Given the description of an element on the screen output the (x, y) to click on. 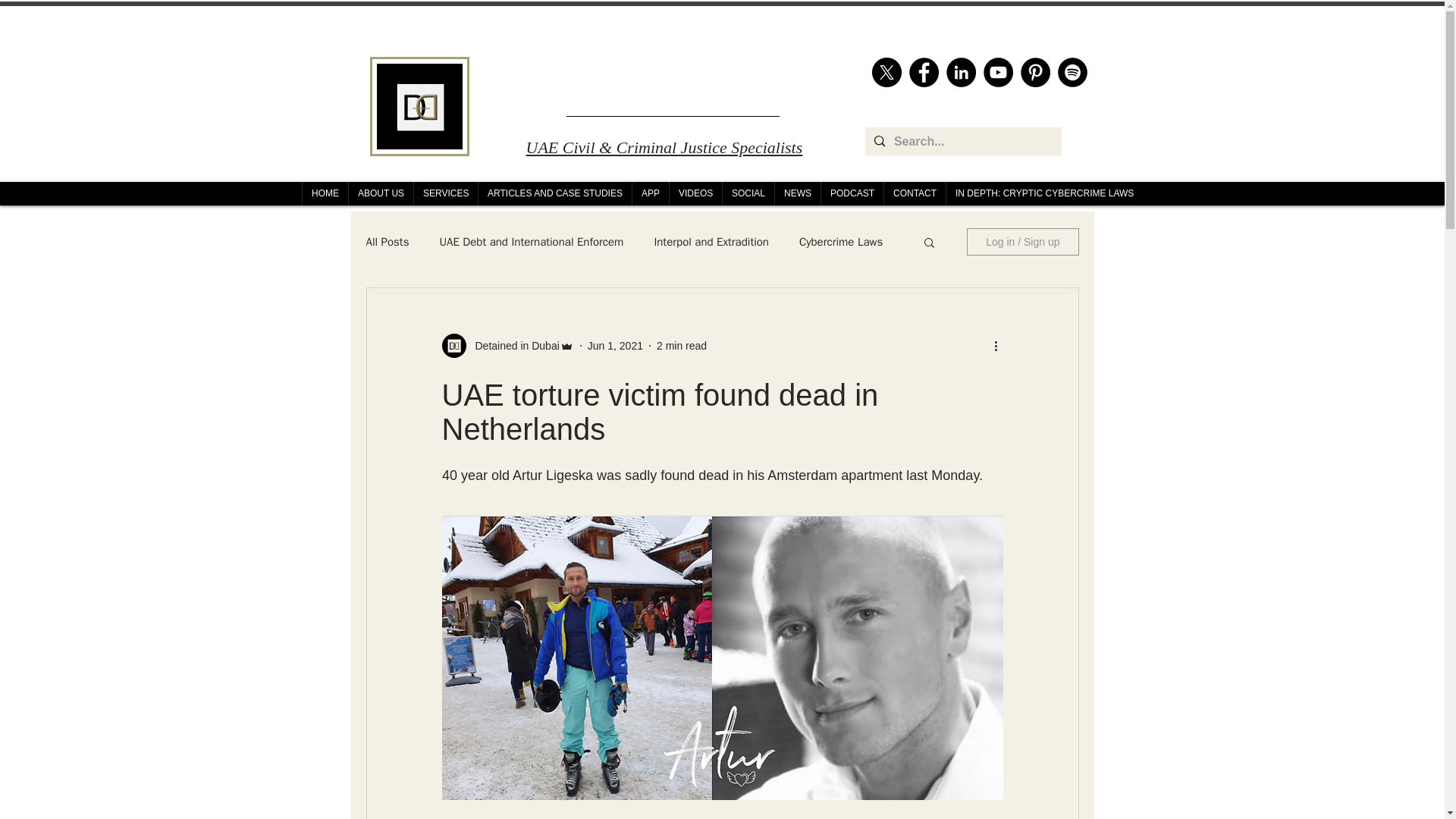
2 min read (681, 345)
Detained in Dubai (512, 345)
ARTICLES AND CASE STUDIES (554, 193)
VIDEOS (695, 193)
APP (649, 193)
Jun 1, 2021 (615, 345)
SERVICES (445, 193)
ABOUT US (380, 193)
HOME (324, 193)
